Given the description of an element on the screen output the (x, y) to click on. 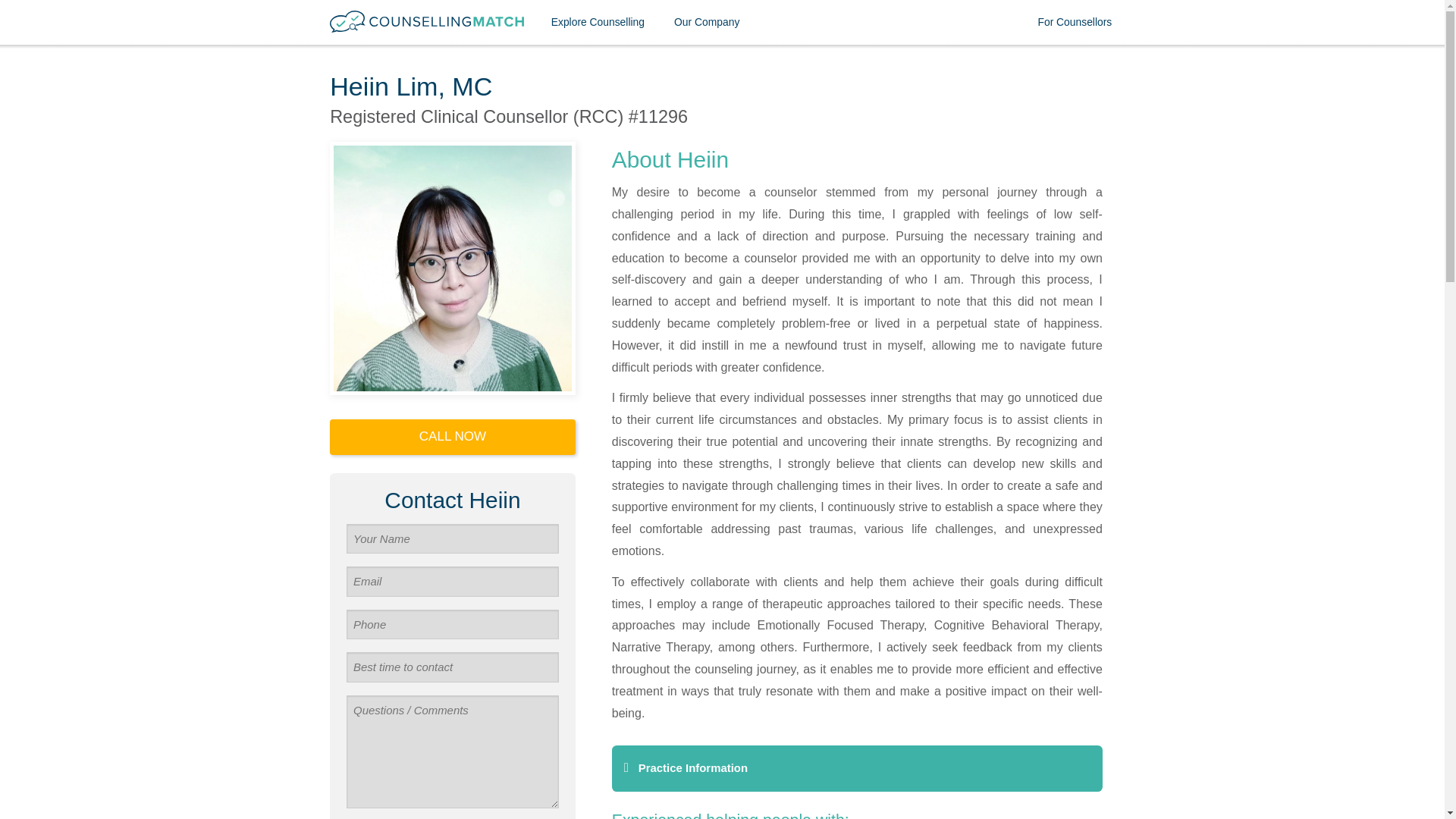
About CounsellingMatch (706, 67)
Find Emergency Help (597, 112)
Explore Counselling (597, 22)
CALL NOW (452, 437)
Create Your Listing (1074, 112)
News and Articles (1074, 157)
Working With a Counsellor (597, 67)
Our Company (706, 22)
Counsellor Login (1074, 67)
Counsellors - Create Your Listing (706, 157)
Our Team (706, 112)
For Counsellors (1074, 22)
Heiin  Lim, MC (452, 268)
This field is required. (452, 538)
Practice Information (856, 768)
